Given the description of an element on the screen output the (x, y) to click on. 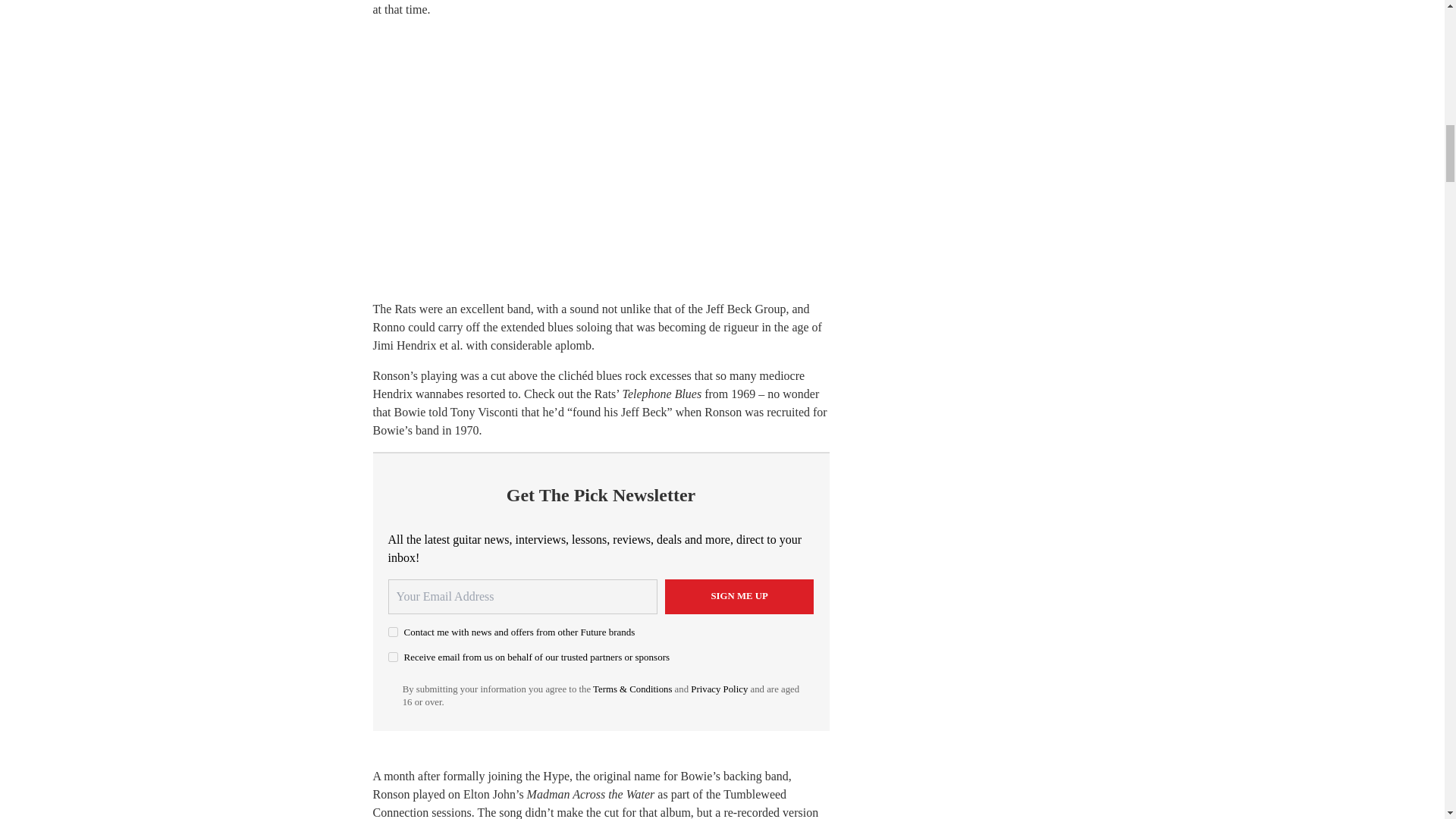
on (392, 632)
Sign me up (739, 596)
Sign me up (739, 596)
on (392, 656)
